Given the description of an element on the screen output the (x, y) to click on. 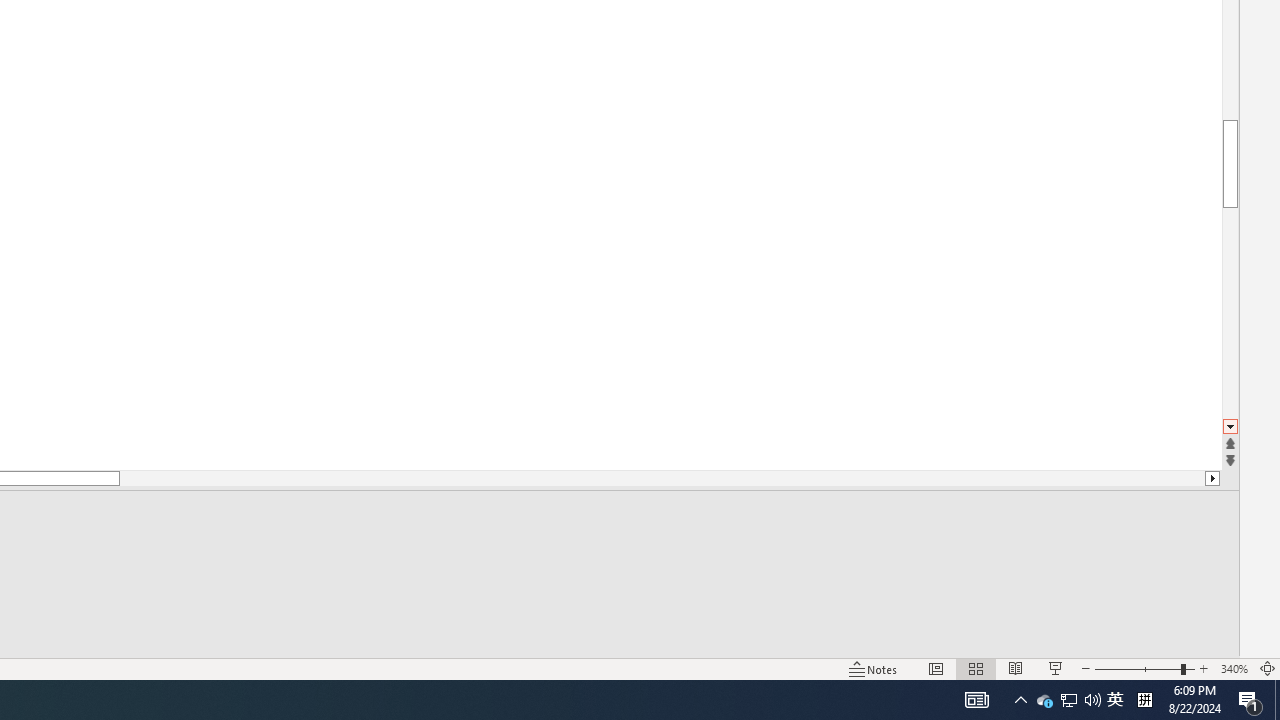
Zoom 340% (1234, 668)
